Given the description of an element on the screen output the (x, y) to click on. 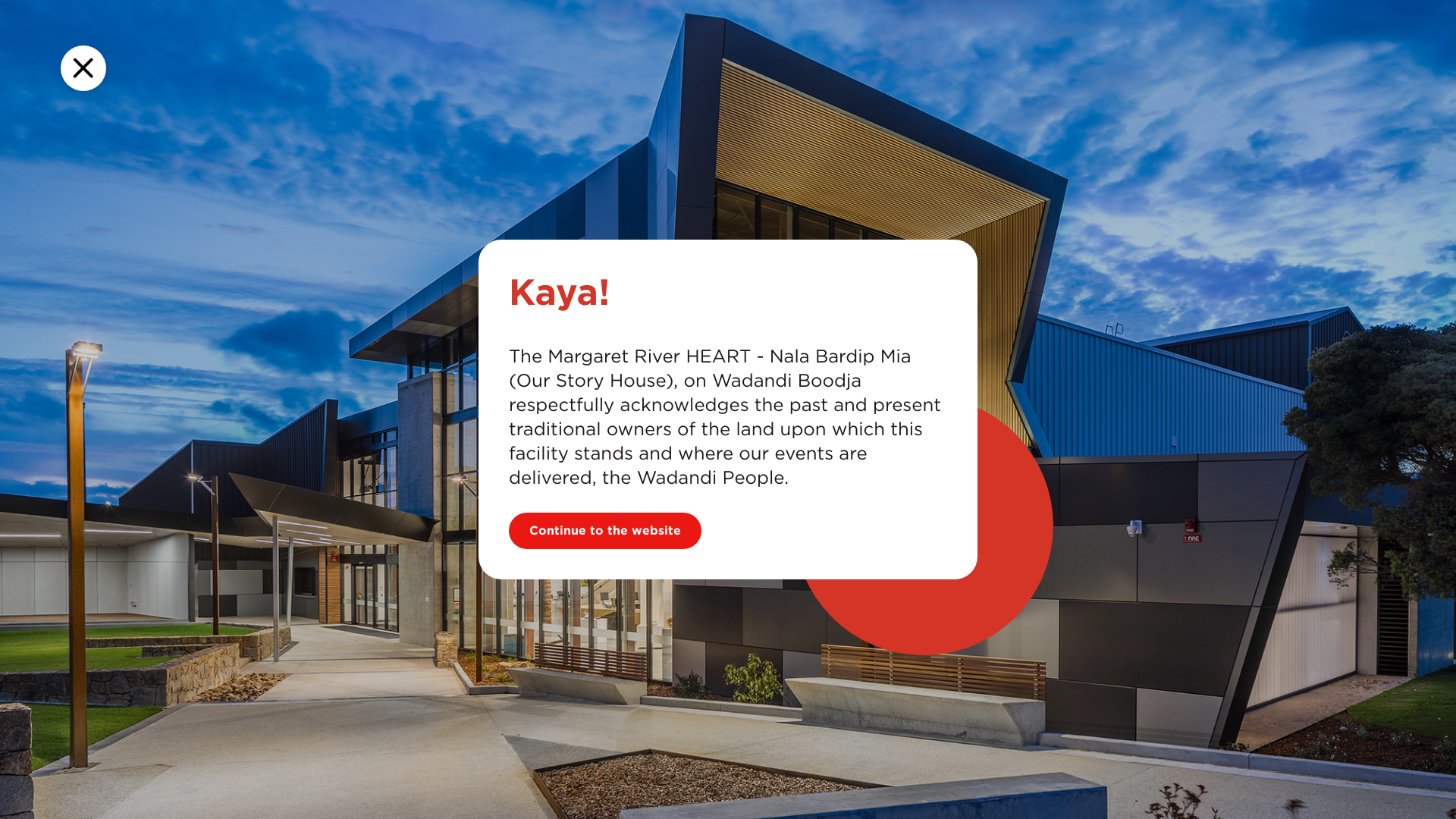
Buy Tickets Element type: text (1151, 62)
Media Element type: text (269, 620)
ABOUT Element type: text (705, 63)
Margaret River HEART Element type: text (305, 45)
press to close popup Element type: text (83, 68)
VISIT US Element type: text (625, 63)
Continue to the website Element type: text (604, 530)
VENUE HIRE Element type: text (796, 63)
CONTACT US Element type: text (904, 63)
Margaret River Heart on Facebook Element type: text (1084, 15)
Margaret River Heart on Instagram Element type: text (1104, 15)
MOVIES Element type: text (542, 63)
